Given the description of an element on the screen output the (x, y) to click on. 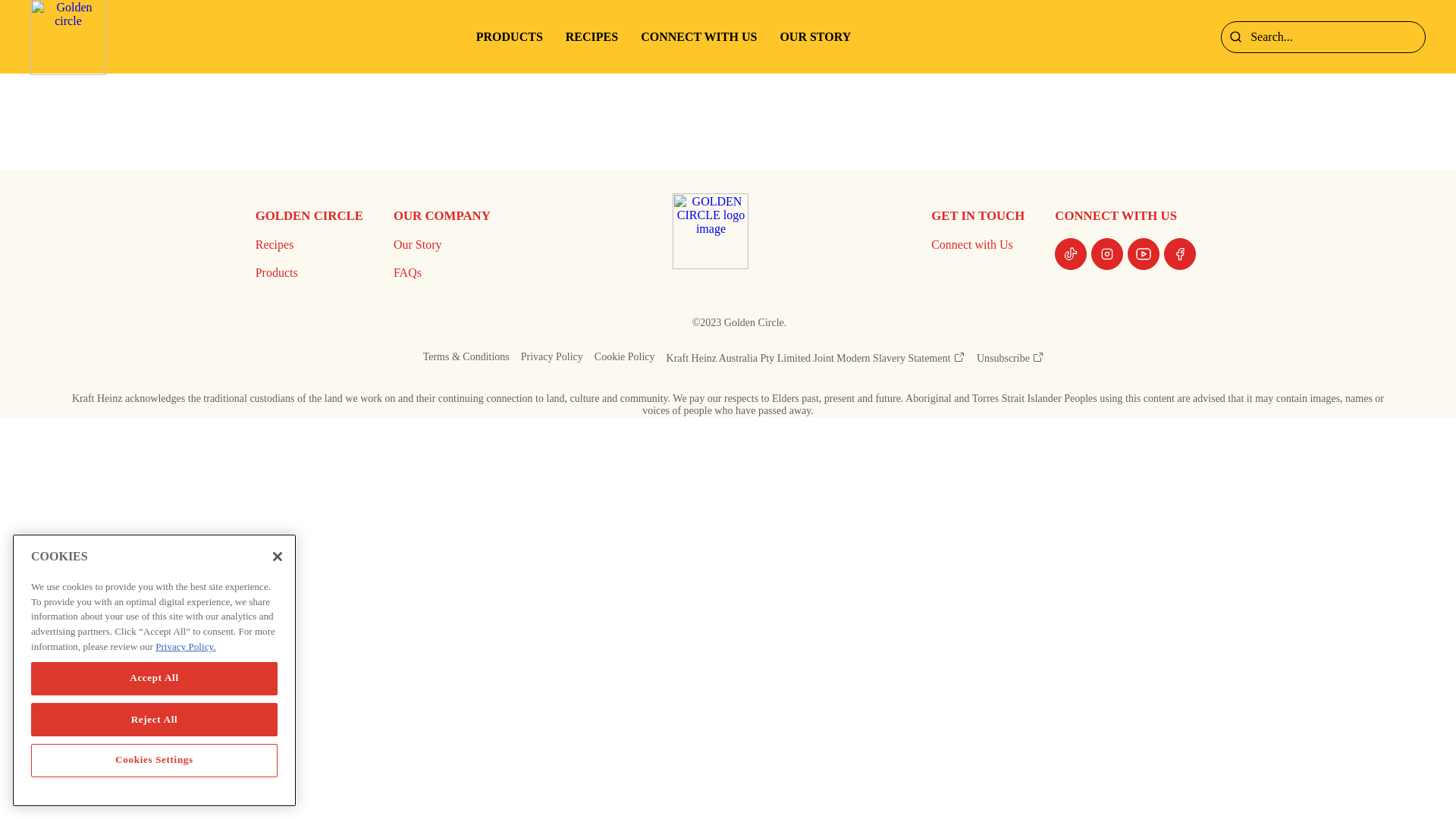
Privacy Policy Element type: text (551, 359)
Privacy Policy. Element type: text (185, 716)
Unsubscribe Element type: text (1010, 359)
Our Story Element type: text (439, 244)
PRODUCTS Element type: text (509, 36)
Products Element type: text (306, 272)
Reject All Element type: text (154, 786)
GOLDEN CIRCLE Element type: hover (710, 264)
Youtube Element type: hover (1143, 253)
Cookie Policy Element type: text (624, 359)
Recipes Element type: text (306, 244)
Tiktok Element type: hover (1070, 253)
Connect with Us Element type: text (975, 244)
CONNECT WITH US Element type: text (698, 36)
facebook Element type: hover (1179, 253)
FAQs Element type: text (439, 272)
Instagram Element type: hover (1107, 253)
Accept All Element type: text (154, 746)
RECIPES Element type: text (591, 36)
OUR STORY Element type: text (814, 36)
Terms & Conditions Element type: text (466, 359)
